Given the description of an element on the screen output the (x, y) to click on. 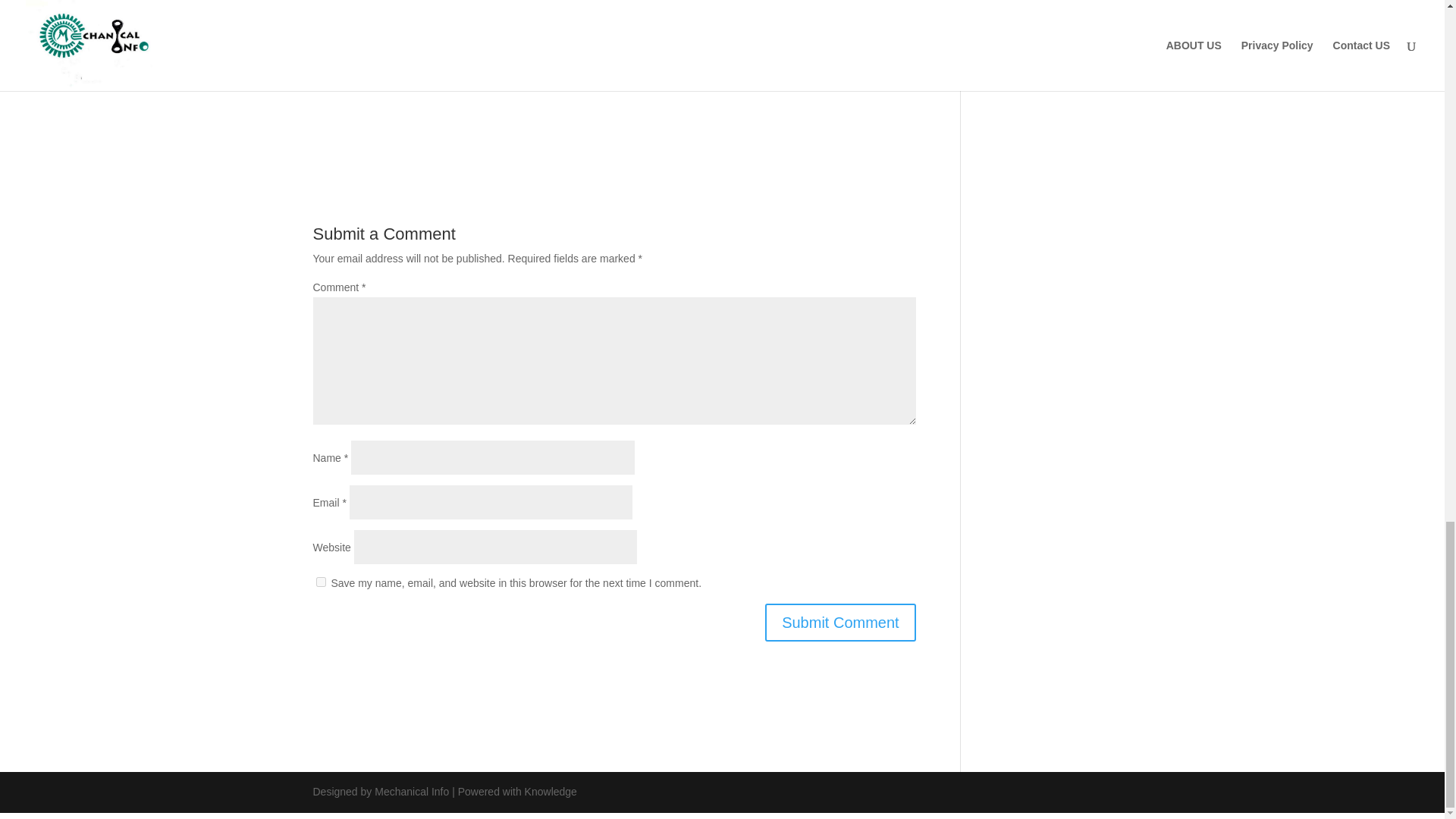
Submit Comment (840, 622)
Submit Comment (840, 622)
yes (319, 582)
